Given the description of an element on the screen output the (x, y) to click on. 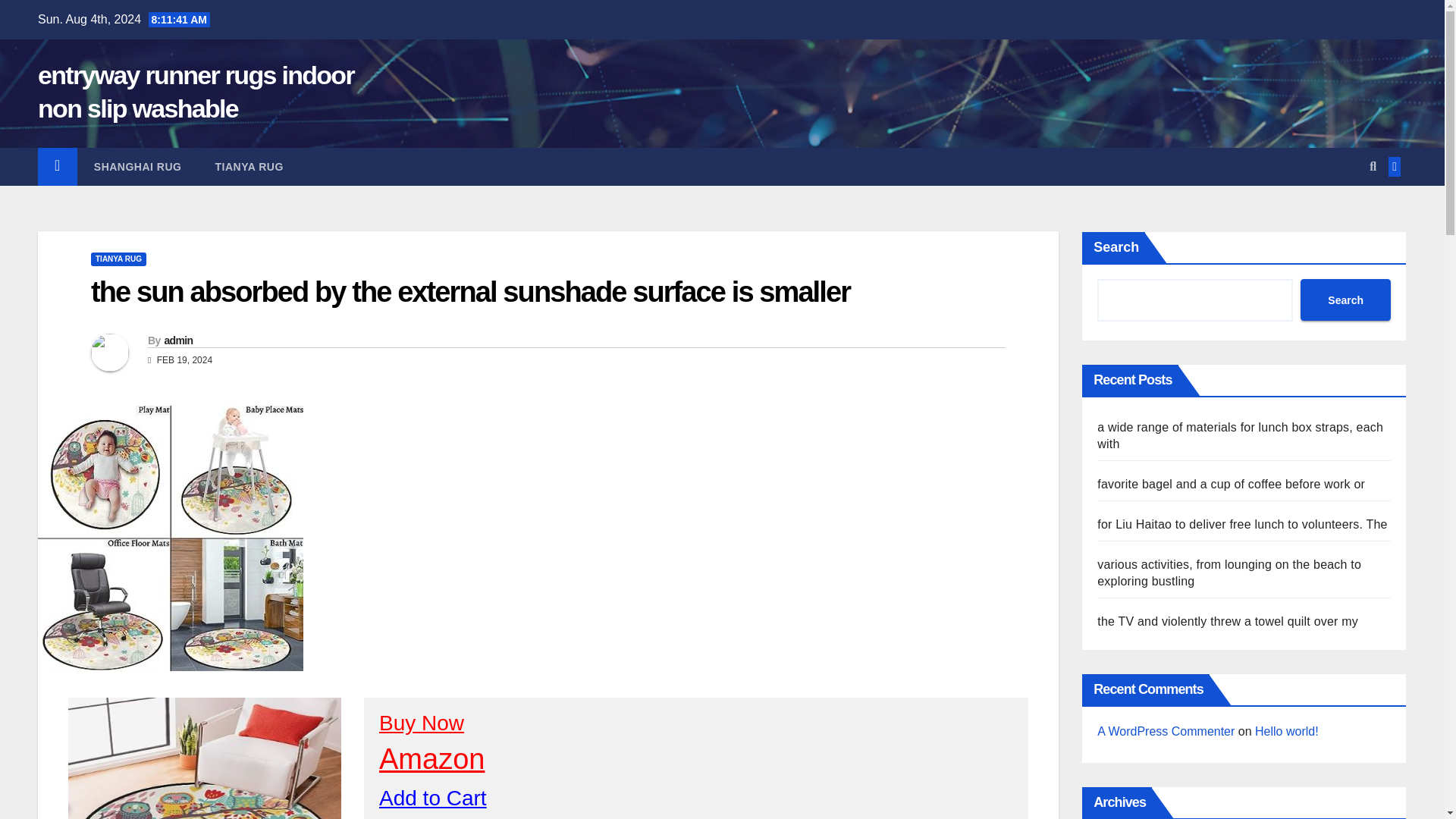
TIANYA RUG (248, 166)
Shanghai rug (137, 166)
entryway runner rugs indoor non slip washable (195, 91)
SHANGHAI RUG (137, 166)
Add to Cart (432, 797)
admin (177, 340)
TIANYA RUG (118, 259)
Tianya rug (248, 166)
Buy Now (421, 722)
the sun absorbed by the external sunshade surface is smaller (470, 291)
Amazon (431, 758)
